Given the description of an element on the screen output the (x, y) to click on. 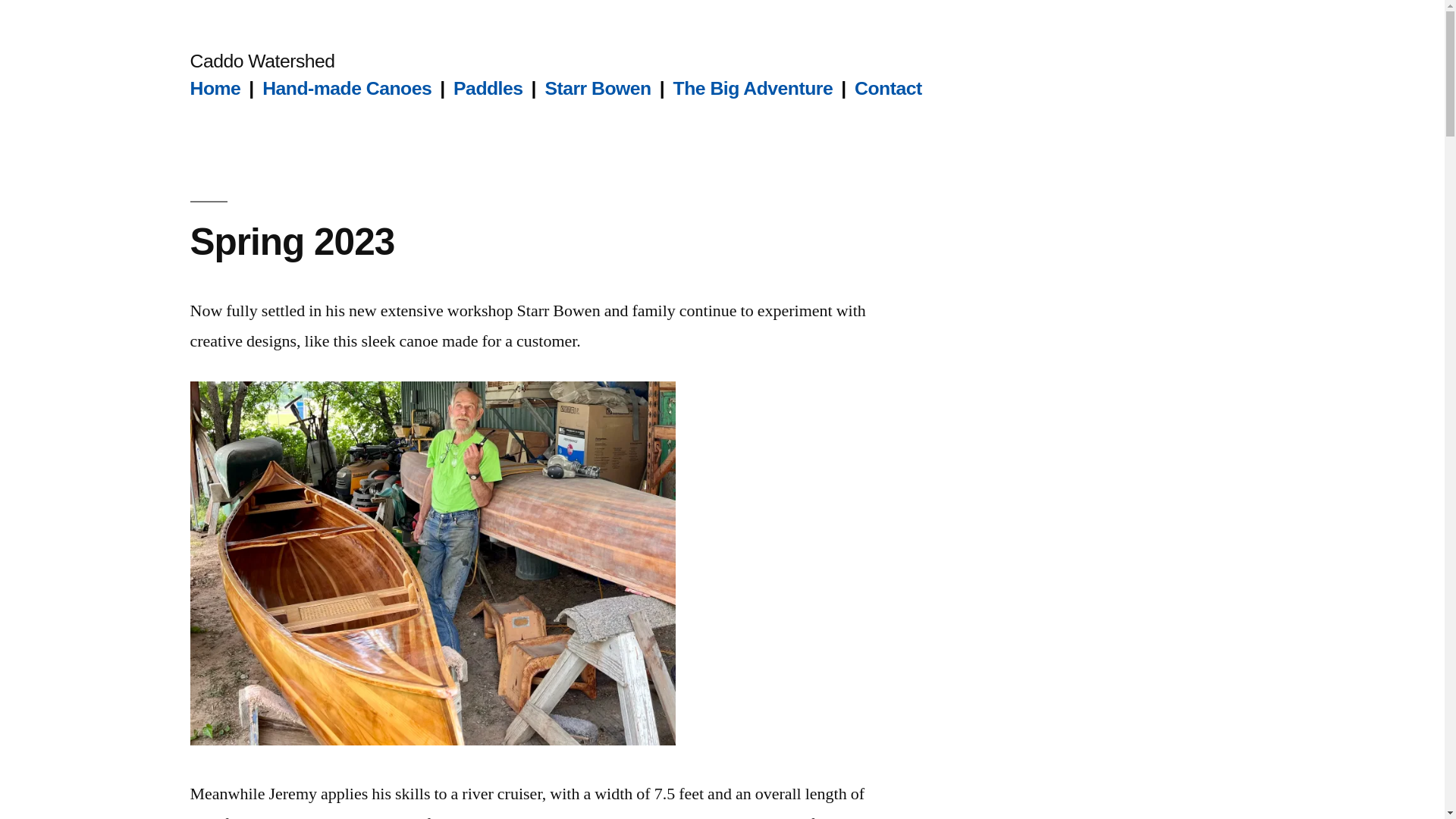
Home (214, 87)
Contact (887, 87)
Hand-made Canoes (346, 87)
Starr Bowen (597, 87)
Caddo Watershed (261, 60)
The Big Adventure (752, 87)
Paddles (487, 87)
Spring 2023 (291, 241)
